Given the description of an element on the screen output the (x, y) to click on. 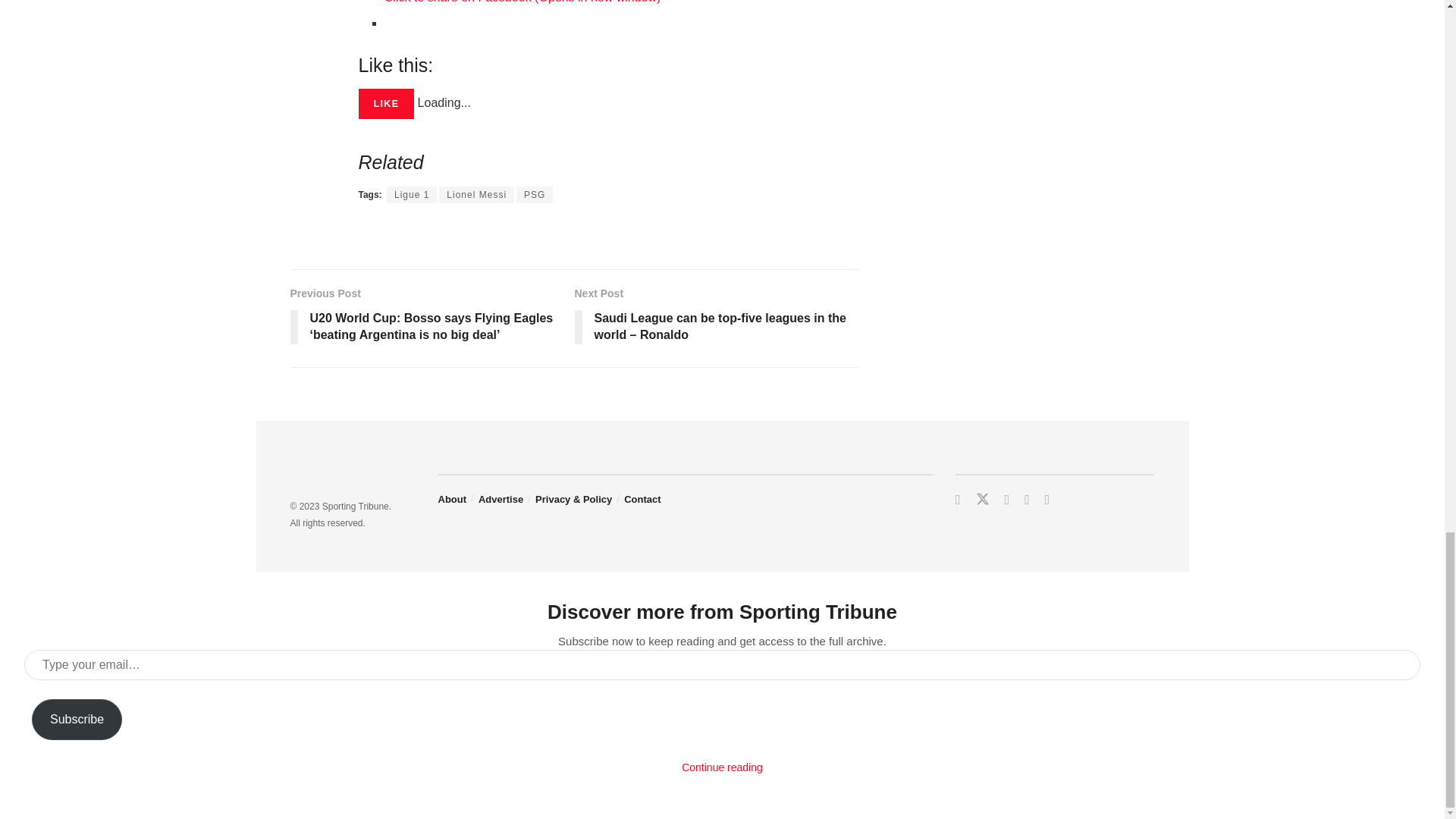
Click to share on Facebook (522, 2)
Please fill in this field. (722, 665)
